Given the description of an element on the screen output the (x, y) to click on. 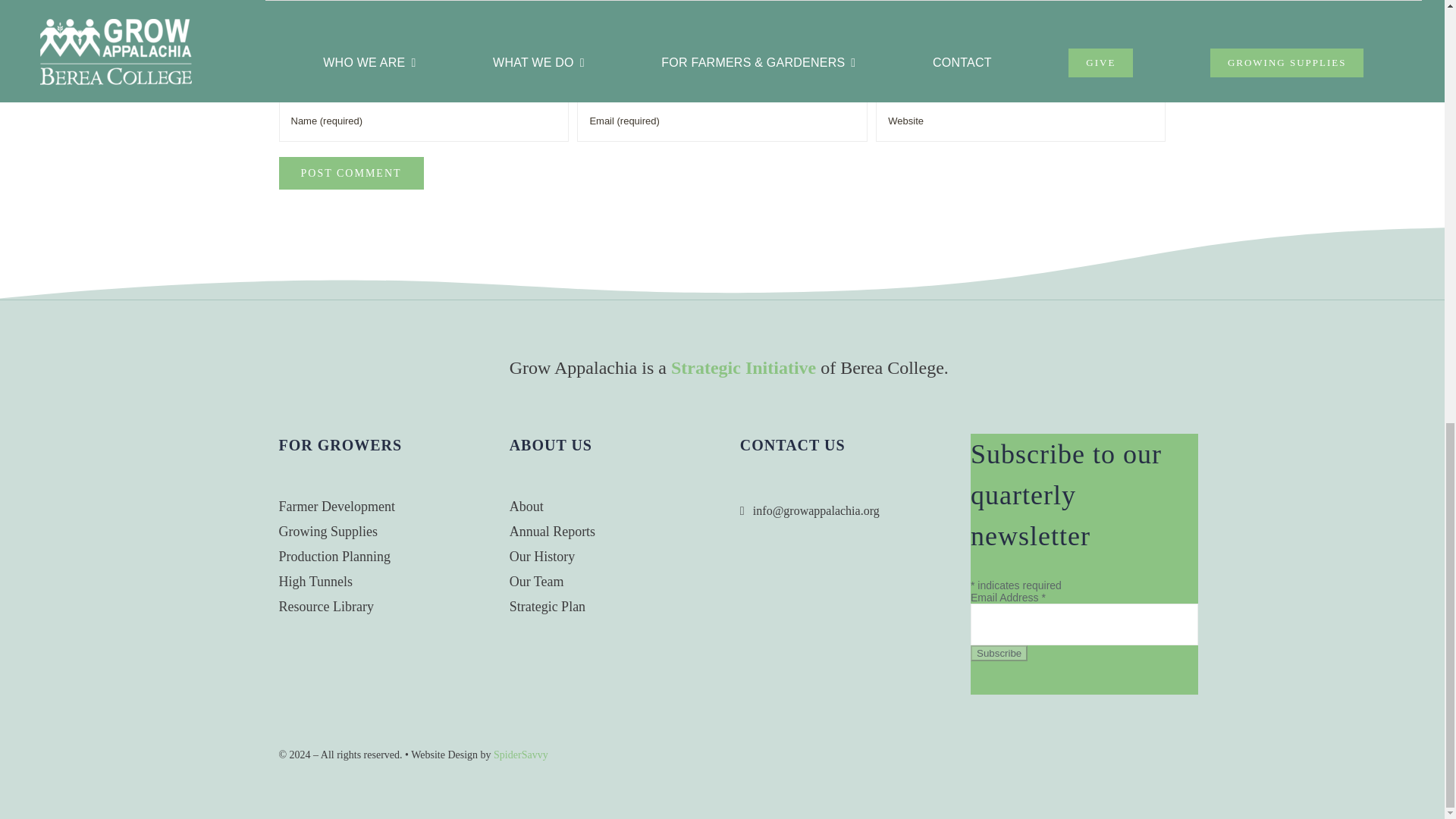
Post Comment (351, 173)
Subscribe (999, 652)
